Given the description of an element on the screen output the (x, y) to click on. 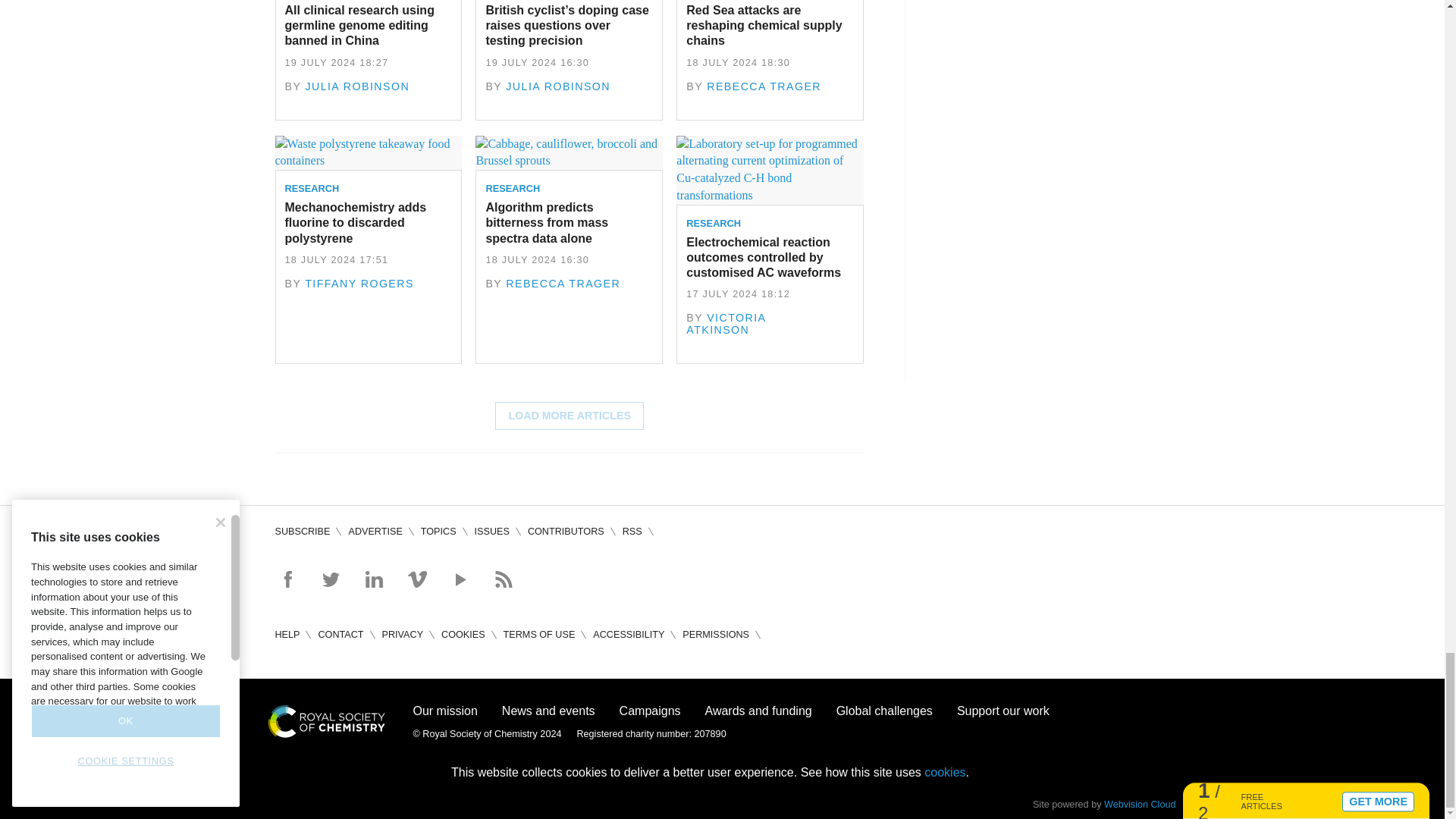
Follow on Twitter (330, 579)
Follow on Facebook (287, 579)
